Given the description of an element on the screen output the (x, y) to click on. 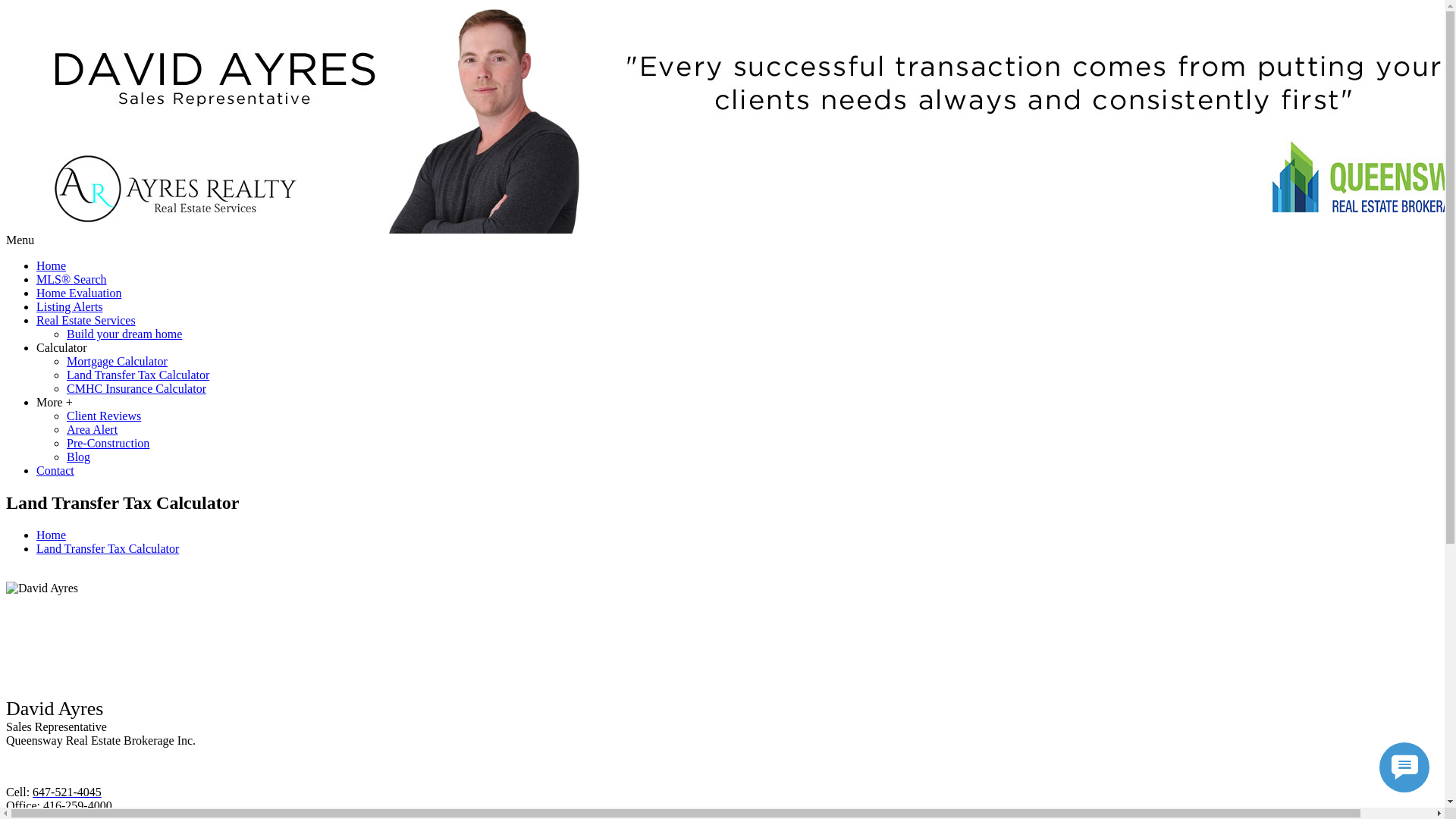
Land Transfer Tax Calculator Element type: text (107, 548)
416-259-4000 Element type: text (77, 805)
Listing Alerts Element type: text (69, 306)
Pre-Construction Element type: text (107, 442)
Real Estate Services Element type: text (85, 319)
Blog Element type: text (78, 456)
Home Evaluation Element type: text (78, 292)
Build your dream home Element type: text (124, 333)
Land Transfer Tax Calculator Element type: text (137, 374)
Mortgage Calculator Element type: text (116, 360)
Client Reviews Element type: text (103, 415)
David Ayres Element type: hover (42, 588)
Calculator Element type: text (61, 347)
Area Alert Element type: text (91, 429)
Home Element type: text (50, 534)
Home Element type: text (50, 265)
Contact Element type: text (55, 470)
Live Chat Element type: hover (1404, 767)
More + Element type: text (54, 401)
647-521-4045 Element type: text (66, 791)
CMHC Insurance Calculator Element type: text (136, 388)
